Given the description of an element on the screen output the (x, y) to click on. 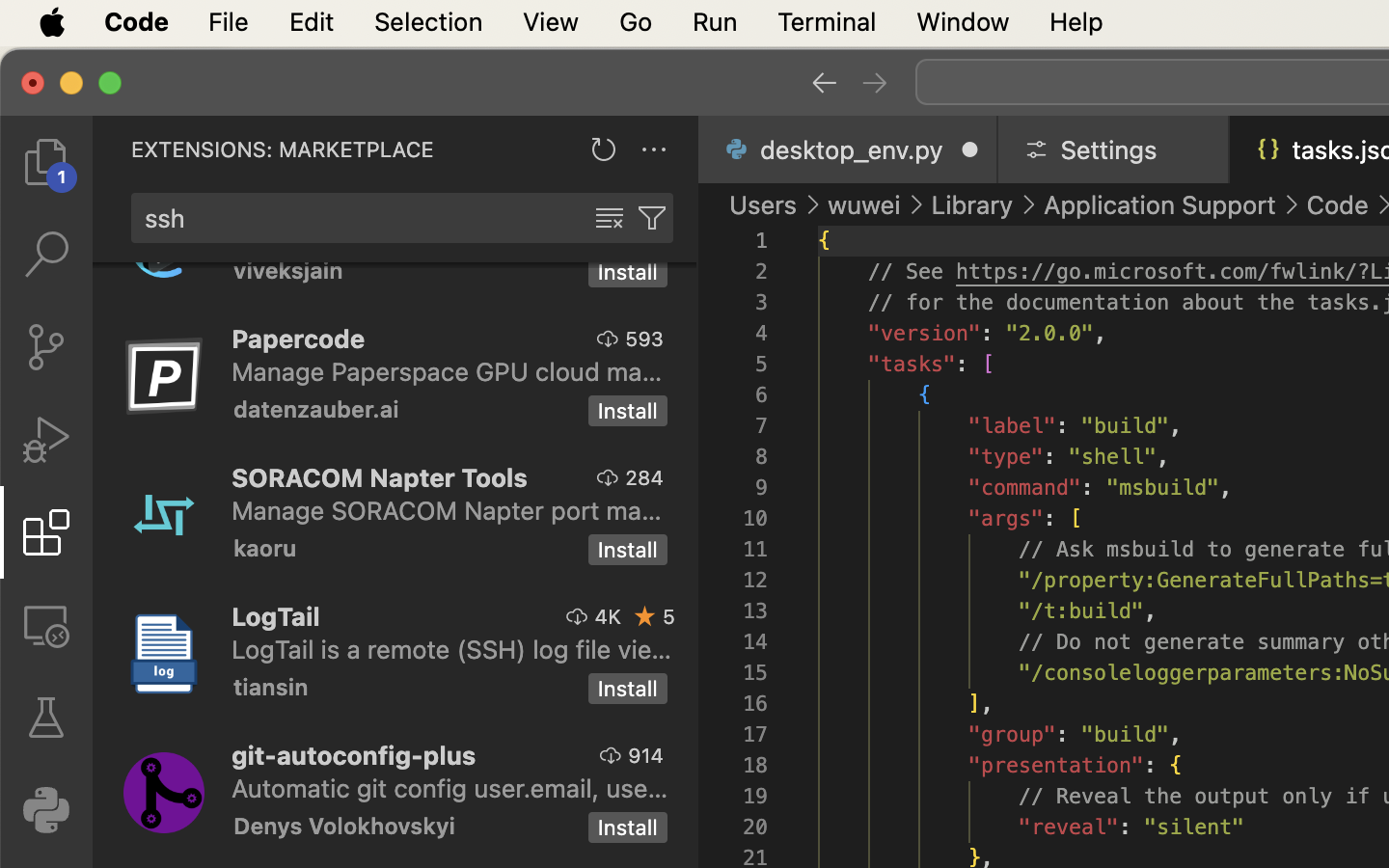
 Element type: AXGroup (46, 254)
Users Element type: AXGroup (763, 204)
datenzauber.ai Element type: AXStaticText (316, 408)
 Element type: AXStaticText (608, 338)
EXTENSIONS: MARKETPLACE Element type: AXStaticText (282, 149)
